Given the description of an element on the screen output the (x, y) to click on. 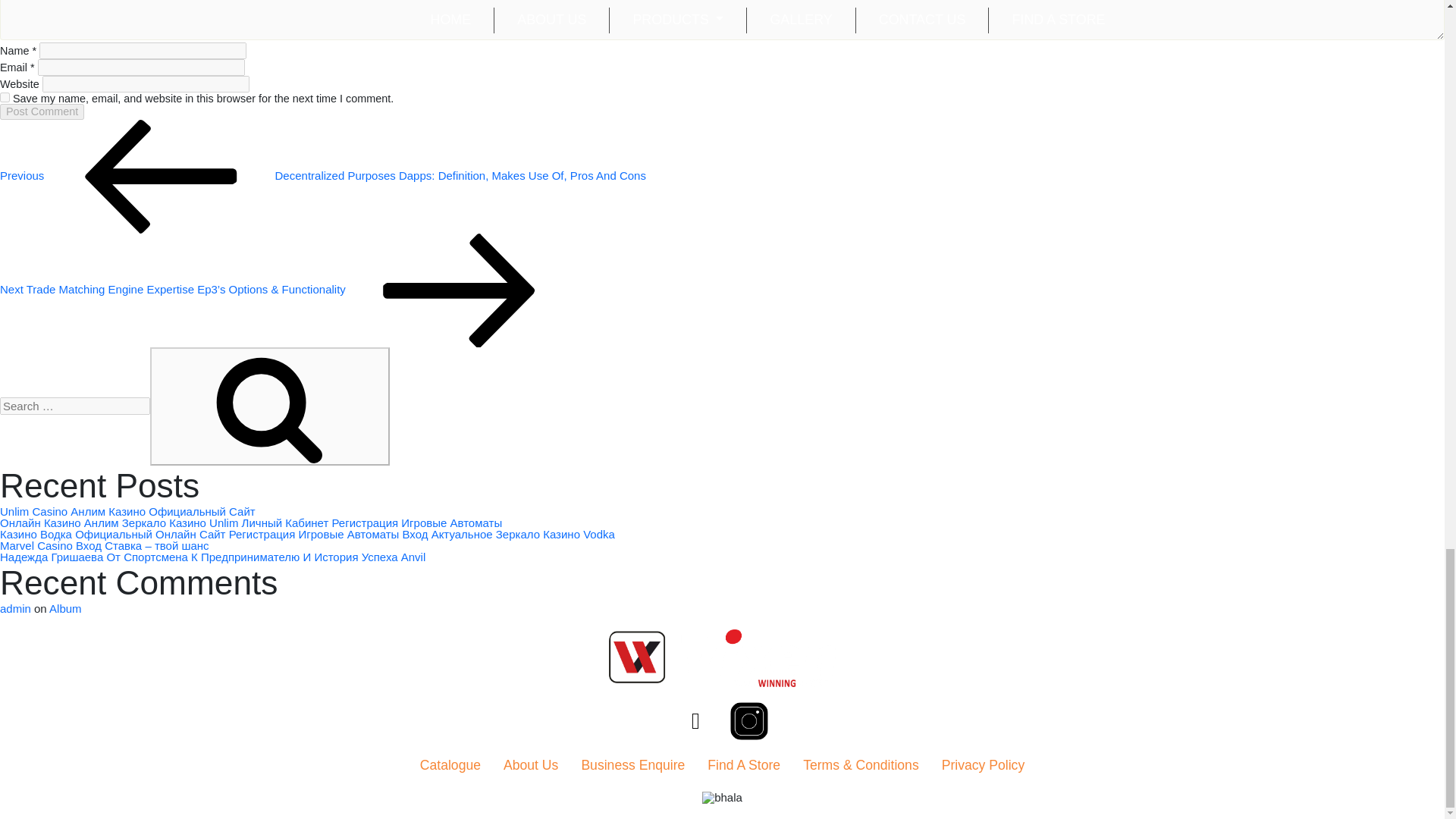
yes (5, 97)
Post Comment (42, 111)
